Given the description of an element on the screen output the (x, y) to click on. 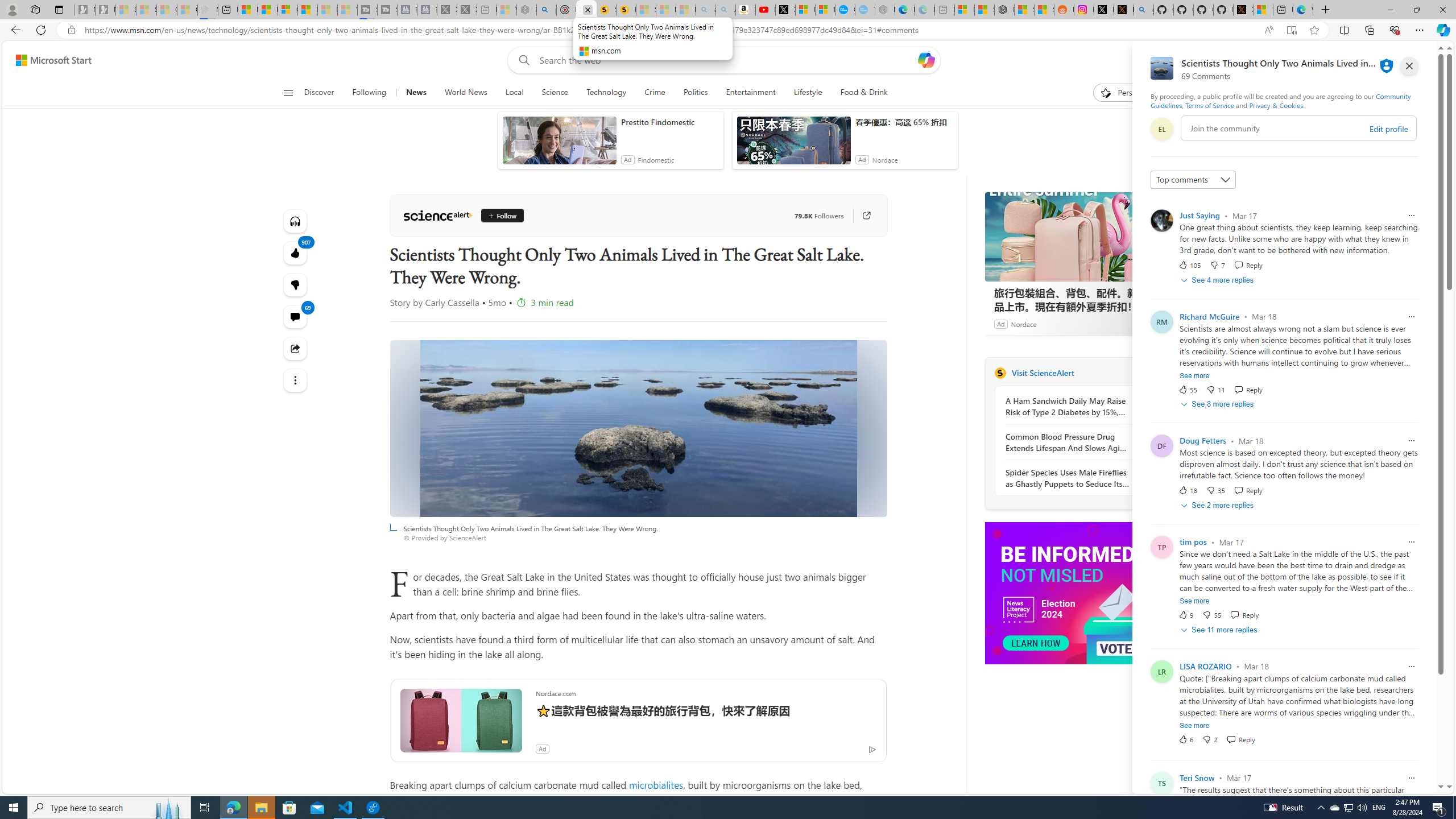
Ad (1152, 667)
Discover (323, 92)
See 4 more replies (1218, 279)
Class: button-glyph (287, 92)
Amazon Echo Dot PNG - Search Images - Sleeping (725, 9)
Science (554, 92)
Day 1: Arriving in Yemen (surreal to be here) - YouTube (765, 9)
Michelle Starr, Senior Journalist at ScienceAlert (625, 9)
Profile Picture (1161, 782)
